Given the description of an element on the screen output the (x, y) to click on. 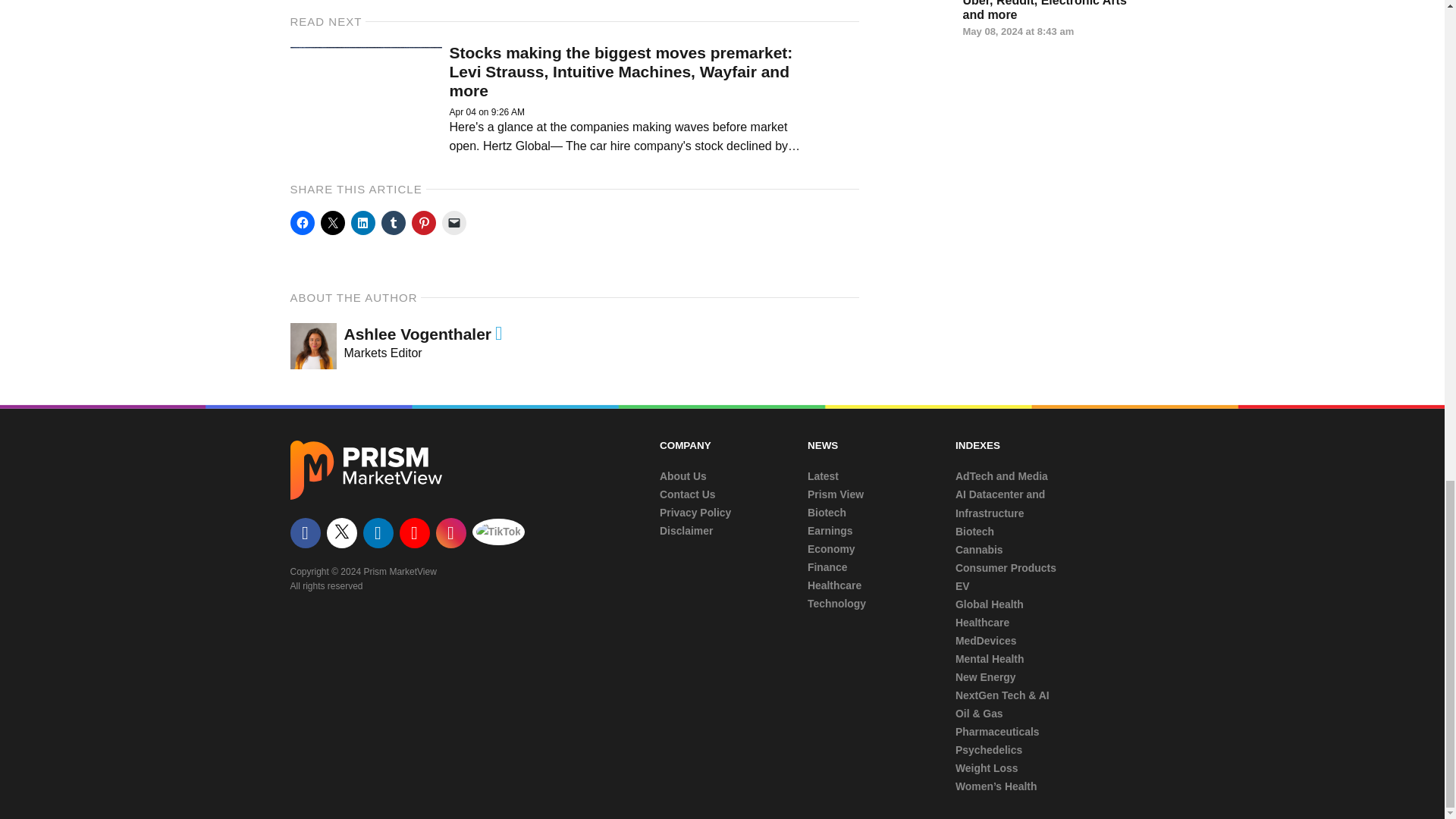
Click to email a link to a friend (453, 222)
LinkedIn (377, 532)
Click to share on X (331, 222)
Click to share on Tumblr (392, 222)
Click to share on Facebook (301, 222)
Instagram (450, 532)
Click to share on X (344, 535)
Click to share on LinkedIn (362, 222)
Click to share on Pinterest (422, 222)
YouTube (413, 532)
